Given the description of an element on the screen output the (x, y) to click on. 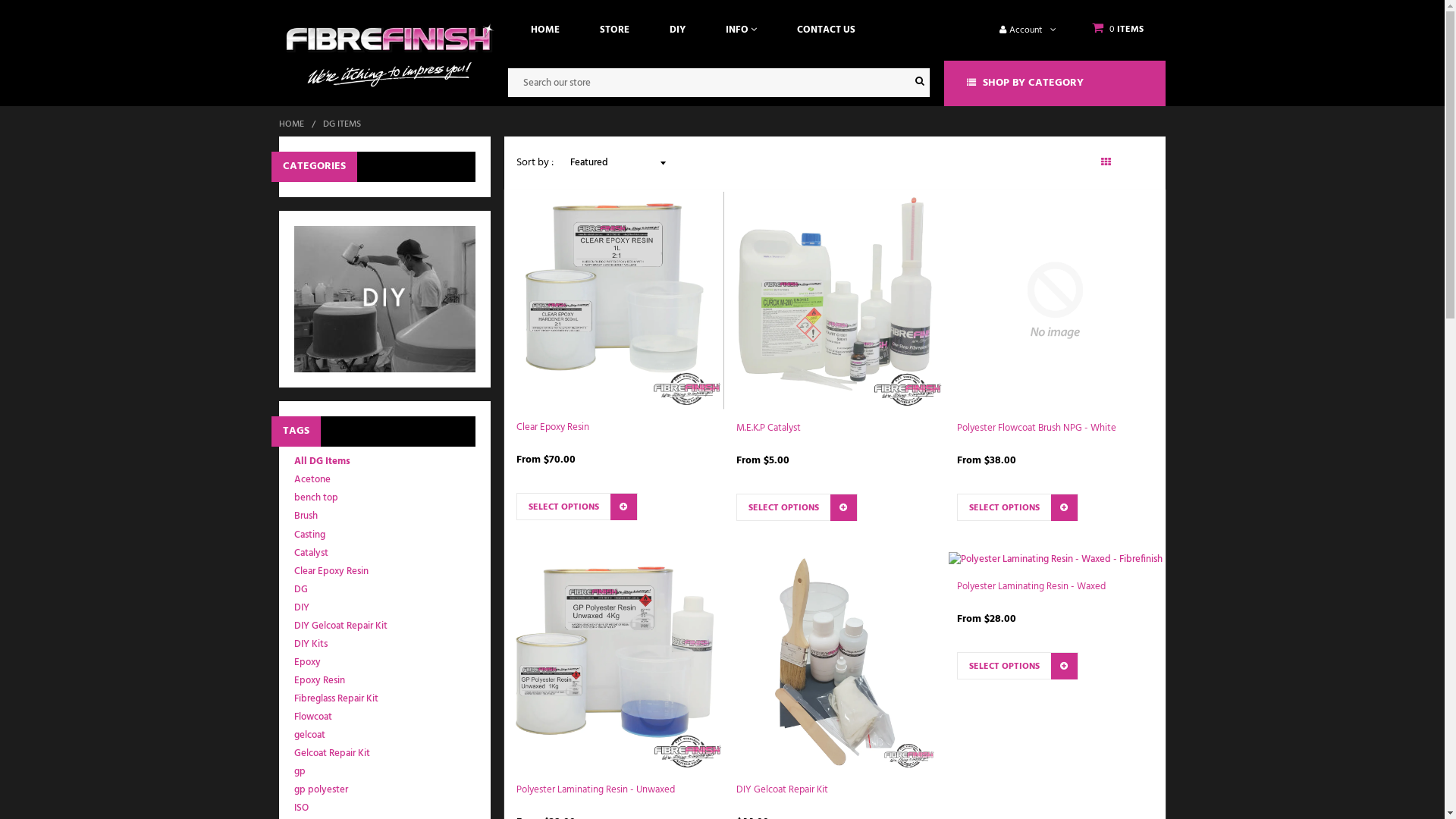
ISO Element type: text (301, 807)
SELECT OPTIONS Element type: text (1017, 506)
SELECT OPTIONS Element type: text (796, 506)
gp Element type: text (299, 771)
Epoxy Element type: text (307, 662)
bench top Element type: text (316, 497)
STORE Element type: text (614, 30)
gelcoat Element type: text (309, 735)
Acetone Element type: text (312, 479)
0 ITEMS Element type: text (1117, 29)
Quickview Element type: hover (669, 562)
DIY Element type: text (677, 30)
Clear Epoxy Resin Element type: text (551, 427)
Polyester Flowcoat Brush NPG - White Element type: text (1036, 428)
Add to whistlist Element type: hover (558, 562)
Polyester Laminating Resin - Unwaxed Element type: text (594, 789)
Casting Element type: text (309, 534)
All DG Items Element type: text (322, 461)
M.E.K.P Catalyst Element type: text (768, 428)
DIY Gelcoat Repair Kit Element type: text (340, 625)
SELECT OPTIONS Element type: text (576, 506)
Polyester Laminating Resin - Waxed Element type: text (1031, 586)
DG Element type: text (300, 589)
Catalyst Element type: text (311, 553)
Add to whistlist Element type: hover (999, 721)
List view Element type: text (1139, 161)
SELECT OPTIONS Element type: text (1017, 665)
Grid view Element type: text (1105, 161)
Add to whistlist Element type: hover (779, 563)
Flowcoat Element type: text (313, 716)
Fibreglass Repair Kit Element type: text (336, 698)
Brush Element type: text (305, 516)
Gelcoat Repair Kit Element type: text (332, 753)
HOME Element type: text (544, 30)
DIY Gelcoat Repair Kit Element type: text (782, 789)
Quickview Element type: hover (1109, 721)
INFO Element type: text (740, 30)
DIY Kits Element type: text (310, 644)
SEARCH Element type: text (920, 82)
DIY Element type: text (301, 607)
gp polyester Element type: text (321, 789)
CONTACT US Element type: text (826, 30)
Epoxy Resin Element type: text (319, 680)
Quickview Element type: hover (1109, 563)
Clear Epoxy Resin Element type: text (331, 571)
Quickview Element type: hover (889, 563)
HOME Element type: text (294, 124)
Add to whistlist Element type: hover (999, 563)
